Given the description of an element on the screen output the (x, y) to click on. 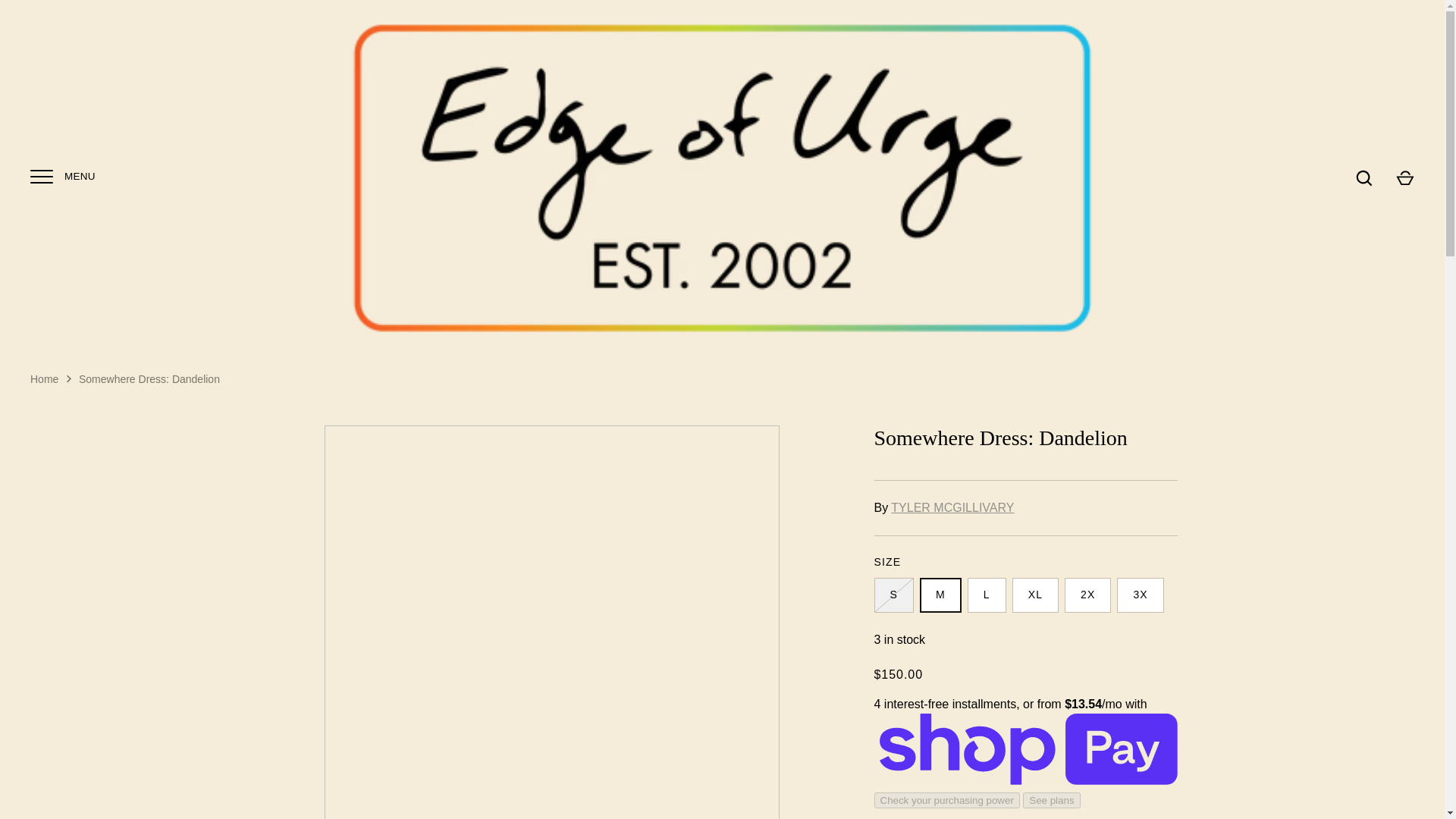
Sold out (892, 595)
MENU (41, 176)
